Given the description of an element on the screen output the (x, y) to click on. 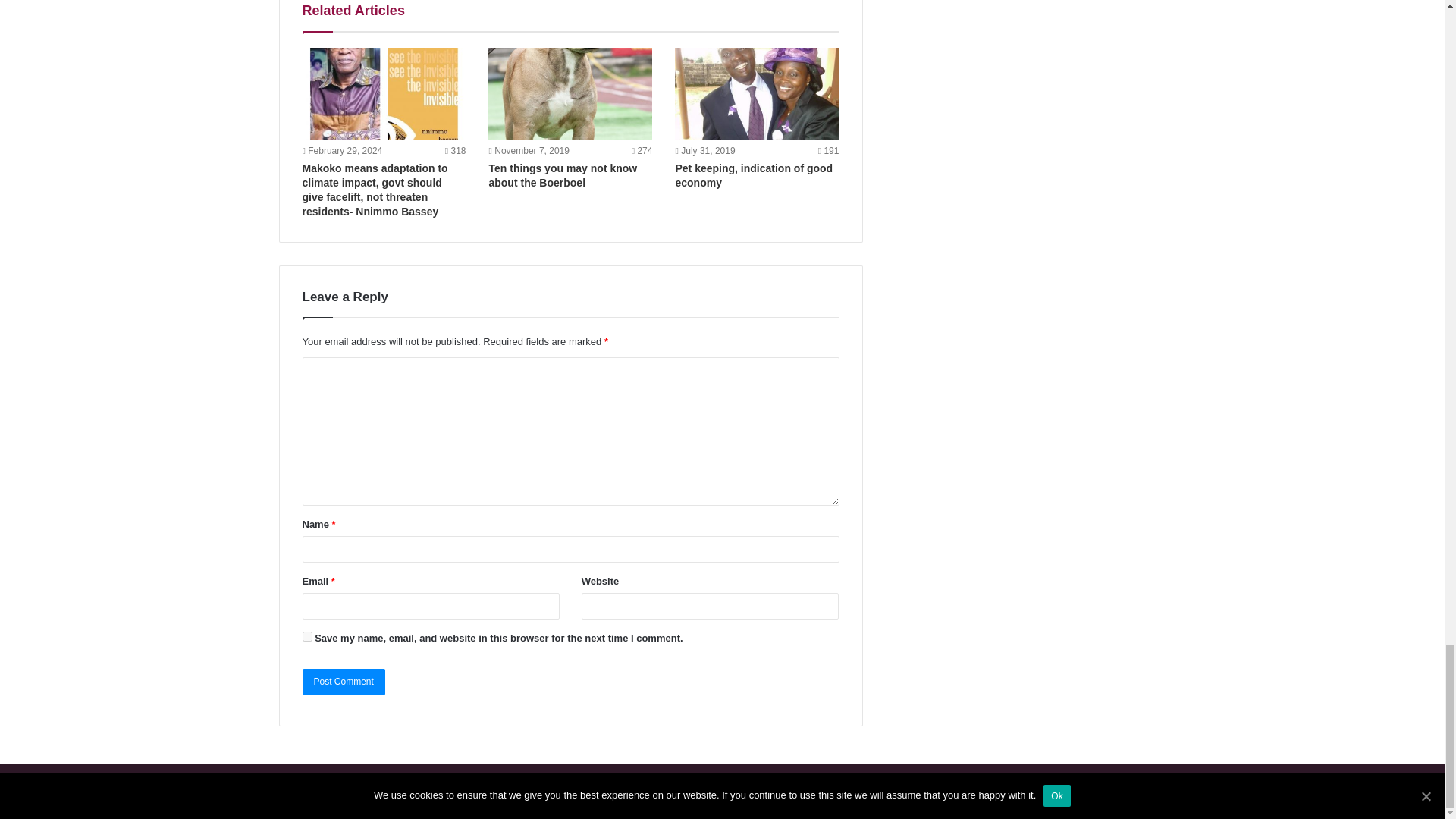
Ten things you may not know about the Boerboel (562, 175)
Pet keeping, indication of good economy (753, 175)
yes (306, 636)
Pet keeping, indication of good economy (753, 175)
Ten things you may not know about the Boerboel (562, 175)
Ten things you may not know about the Boerboel (569, 93)
Pet keeping, indication of good economy (756, 93)
Post Comment (342, 682)
